Given the description of an element on the screen output the (x, y) to click on. 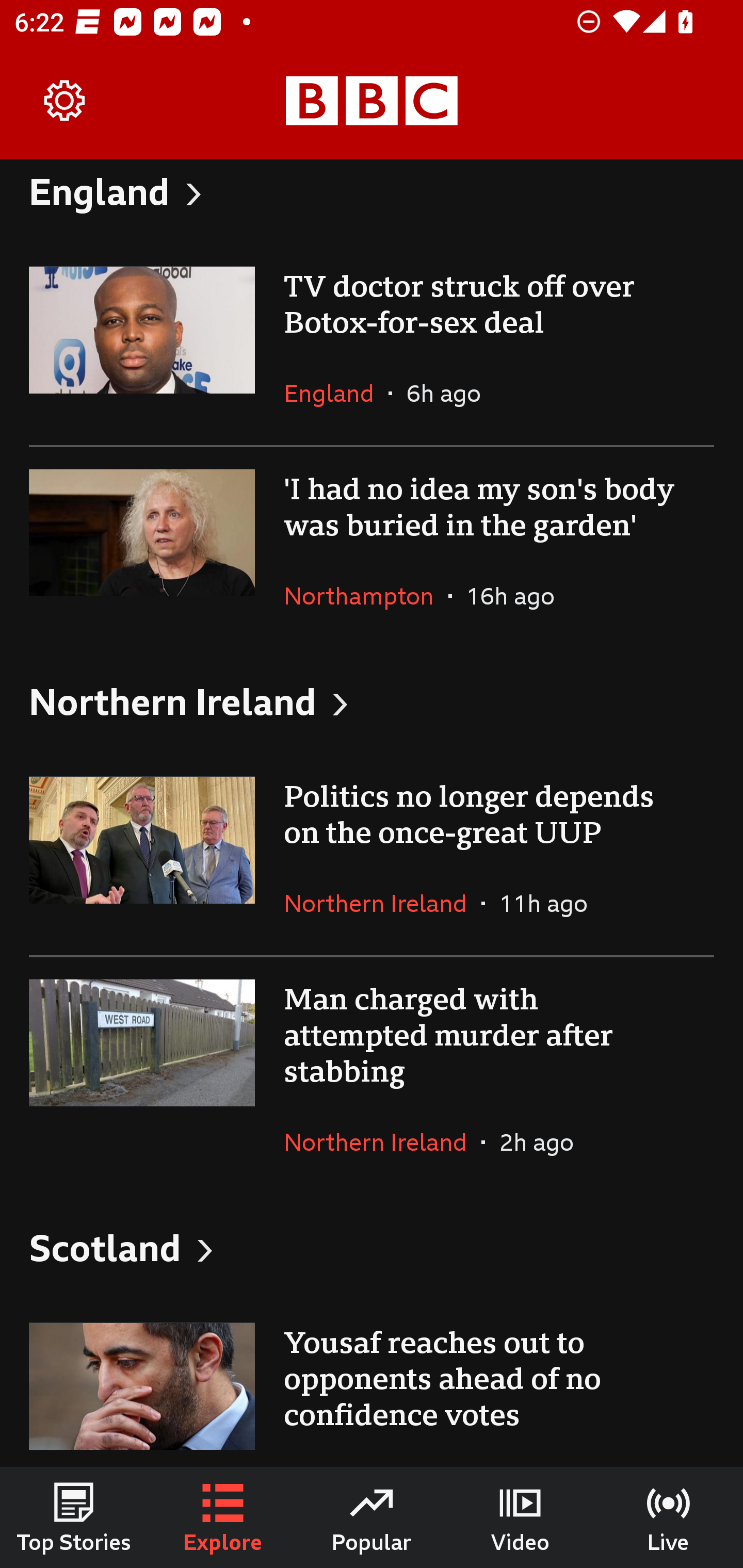
Settings (64, 100)
England, Heading England    (371, 201)
England In the section England (335, 392)
Northampton In the section Northampton (365, 595)
Northern Ireland, Heading Northern Ireland    (371, 700)
Northern Ireland In the section Northern Ireland (382, 902)
Northern Ireland In the section Northern Ireland (382, 1141)
Scotland, Heading Scotland    (371, 1247)
Top Stories (74, 1517)
Popular (371, 1517)
Video (519, 1517)
Live (668, 1517)
